Given the description of an element on the screen output the (x, y) to click on. 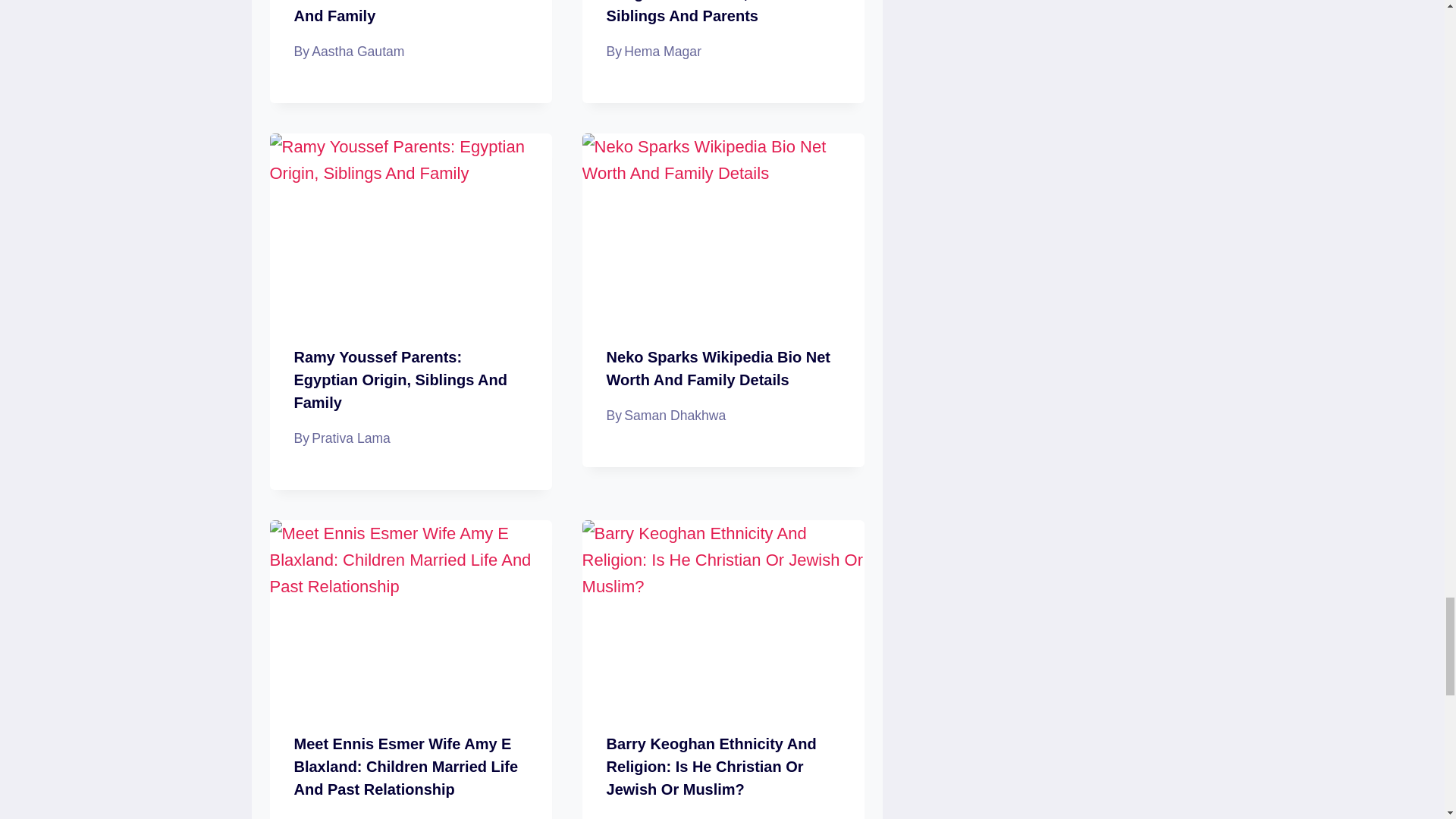
Aastha Gautam (357, 51)
Hema Magar (662, 51)
